Given the description of an element on the screen output the (x, y) to click on. 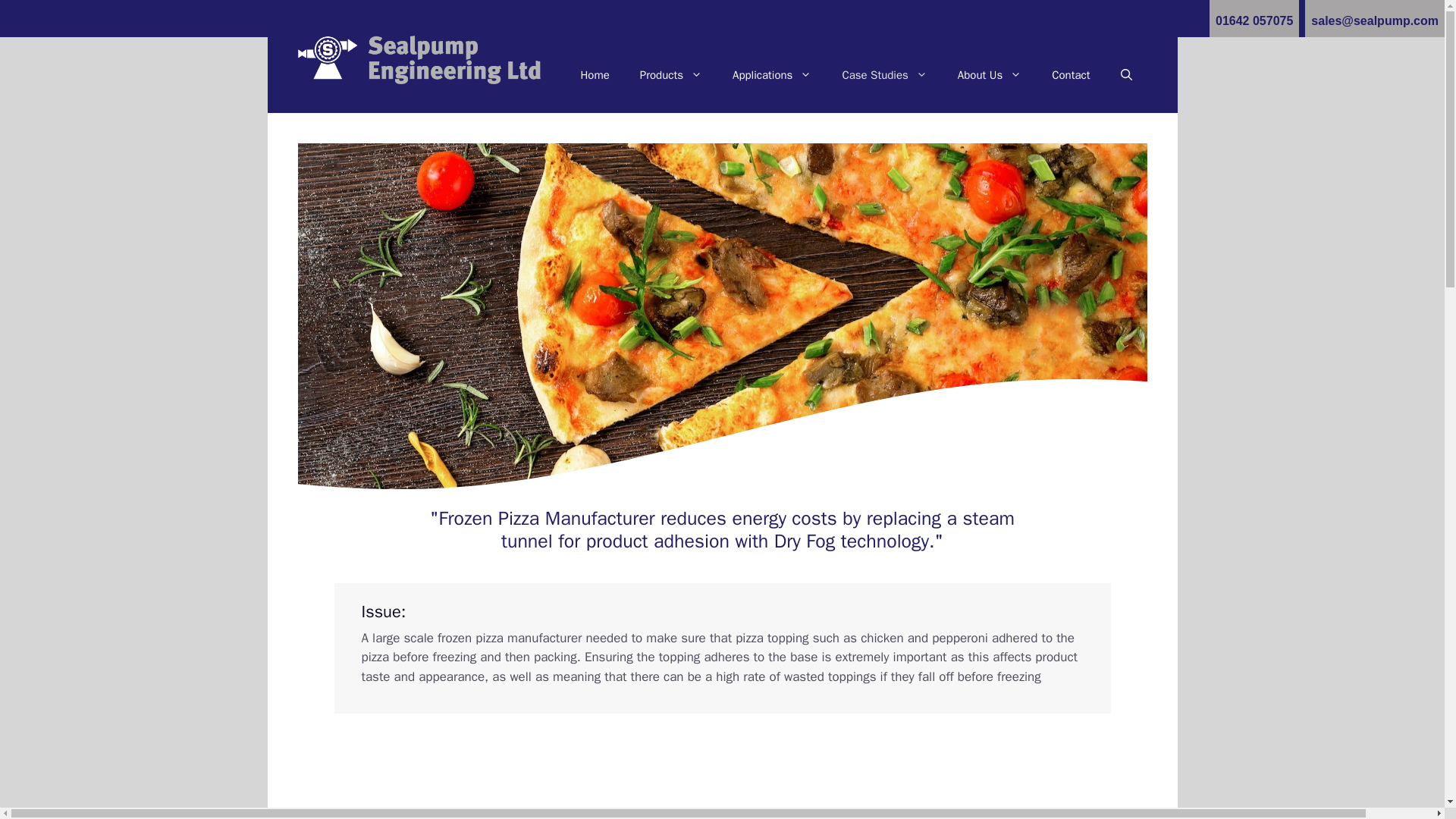
01642 057075 (1253, 18)
Products (670, 74)
Home (594, 74)
